Given the description of an element on the screen output the (x, y) to click on. 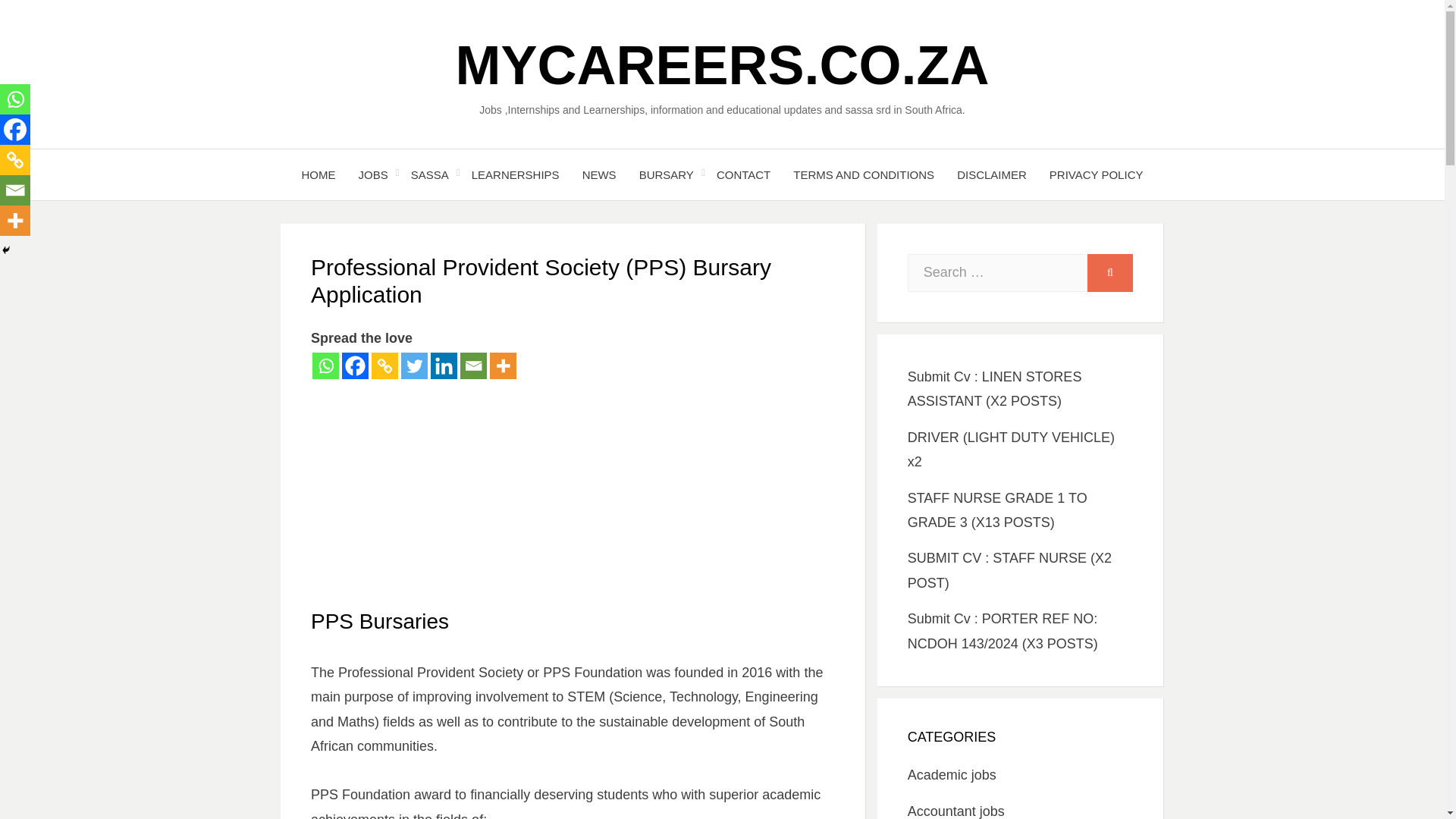
DISCLAIMER (991, 174)
Copy Link (384, 365)
LEARNERSHIPS (515, 174)
Twitter (414, 365)
Whatsapp (15, 99)
JOBS (372, 174)
SASSA (429, 174)
Whatsapp (326, 365)
PRIVACY POLICY (1096, 174)
MYCAREERS.CO.ZA (721, 65)
